Given the description of an element on the screen output the (x, y) to click on. 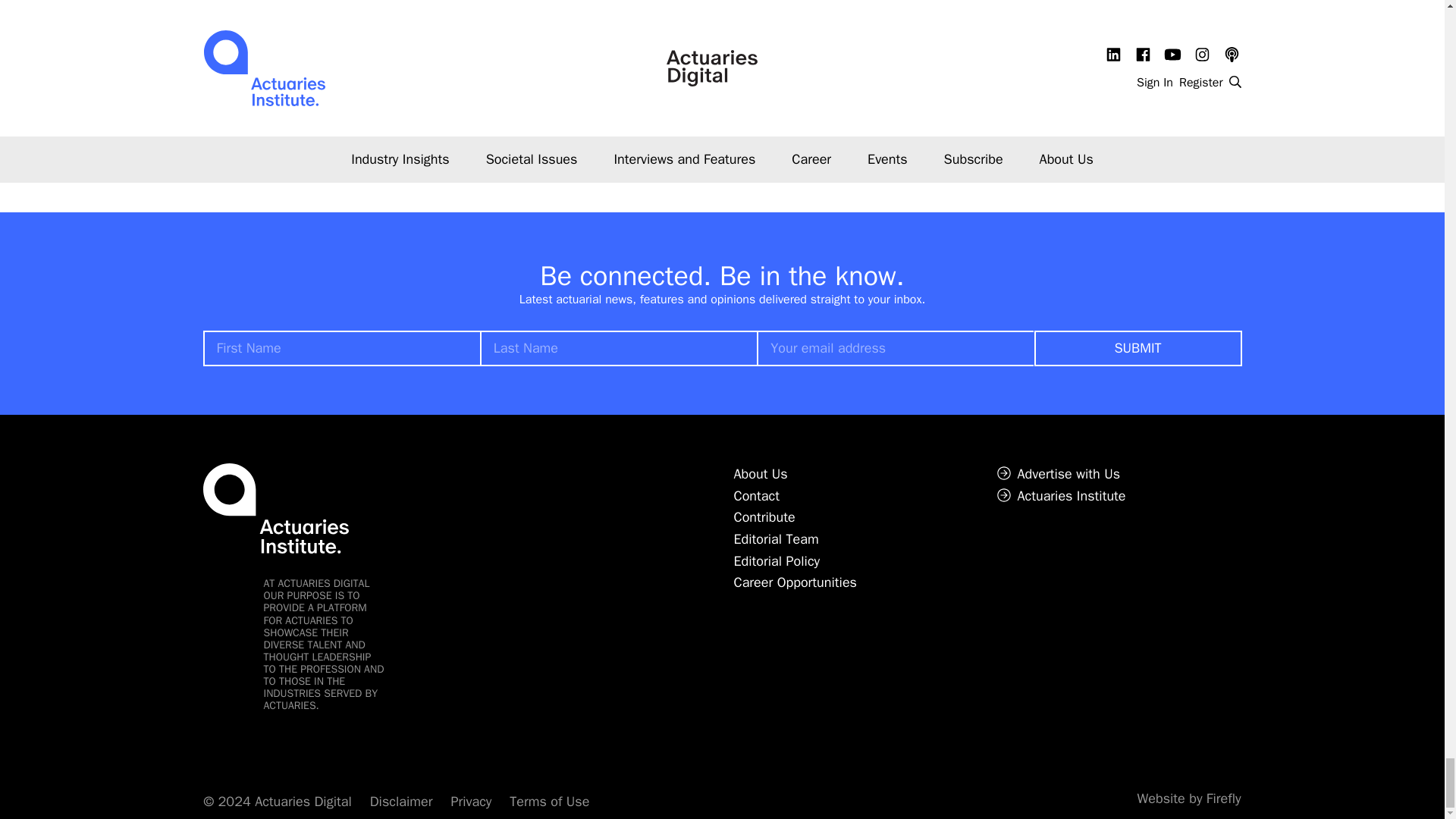
Submit (1137, 348)
